Given the description of an element on the screen output the (x, y) to click on. 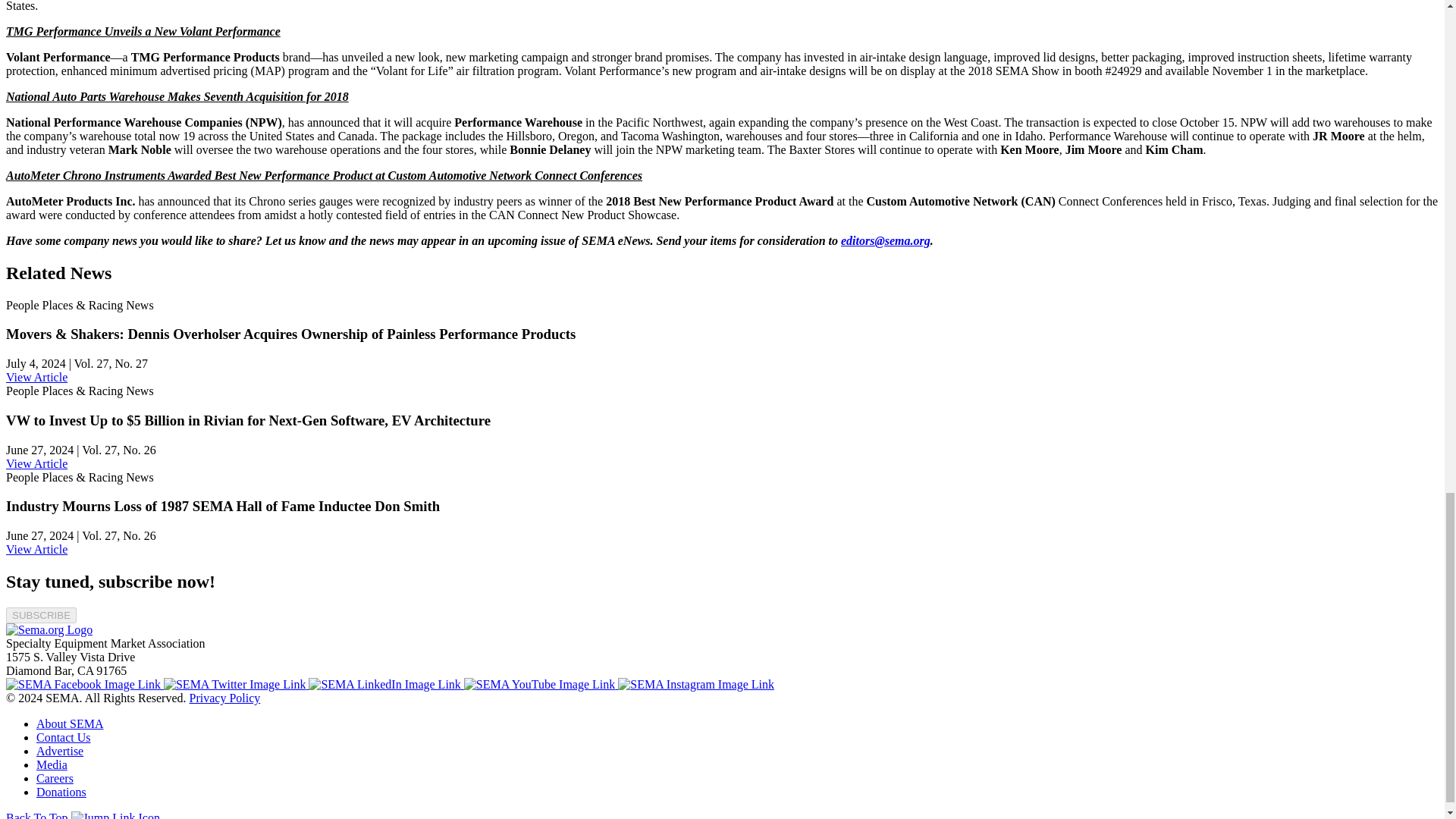
SUBSCRIBE (41, 615)
SEMA LinkedIn Link (385, 684)
View Article (35, 463)
SEMA Instagram Link (695, 684)
SEMA Facebook Link (84, 684)
SEMA YouTube Link (540, 684)
View Article (35, 377)
Privacy Policy (224, 697)
SEMA Twitter Link (235, 684)
